Given the description of an element on the screen output the (x, y) to click on. 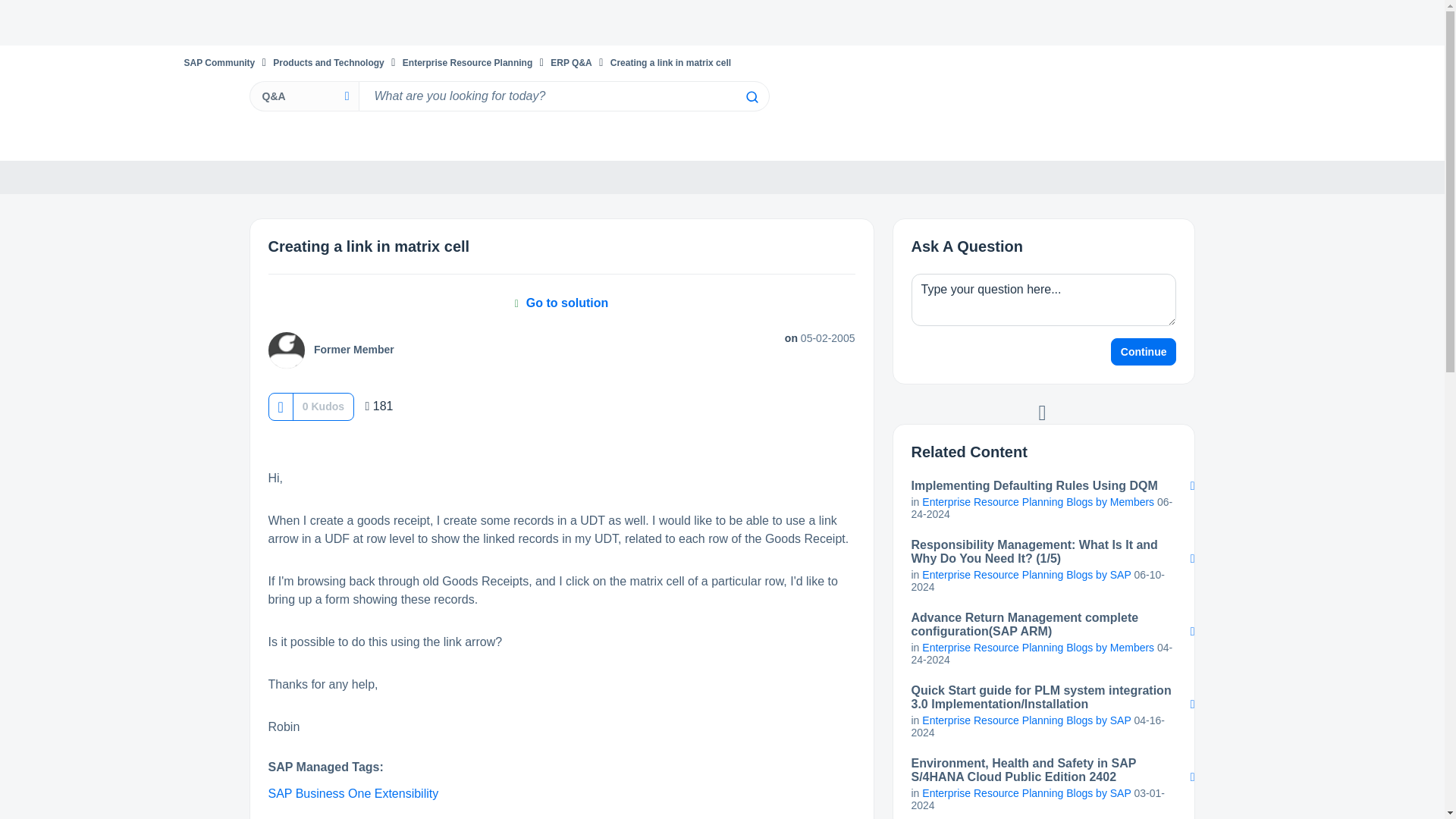
Continue (1143, 351)
Search Granularity (303, 96)
Search (750, 96)
Go to solution (561, 302)
Search (563, 96)
SAP Business One Extensibility (353, 793)
Click here to give kudos to this post. (279, 406)
SAP Community (218, 62)
Search (750, 96)
Search (750, 96)
The total number of kudos this post has received. (323, 406)
Enterprise Resource Planning (467, 62)
Products and Technology (328, 62)
